Given the description of an element on the screen output the (x, y) to click on. 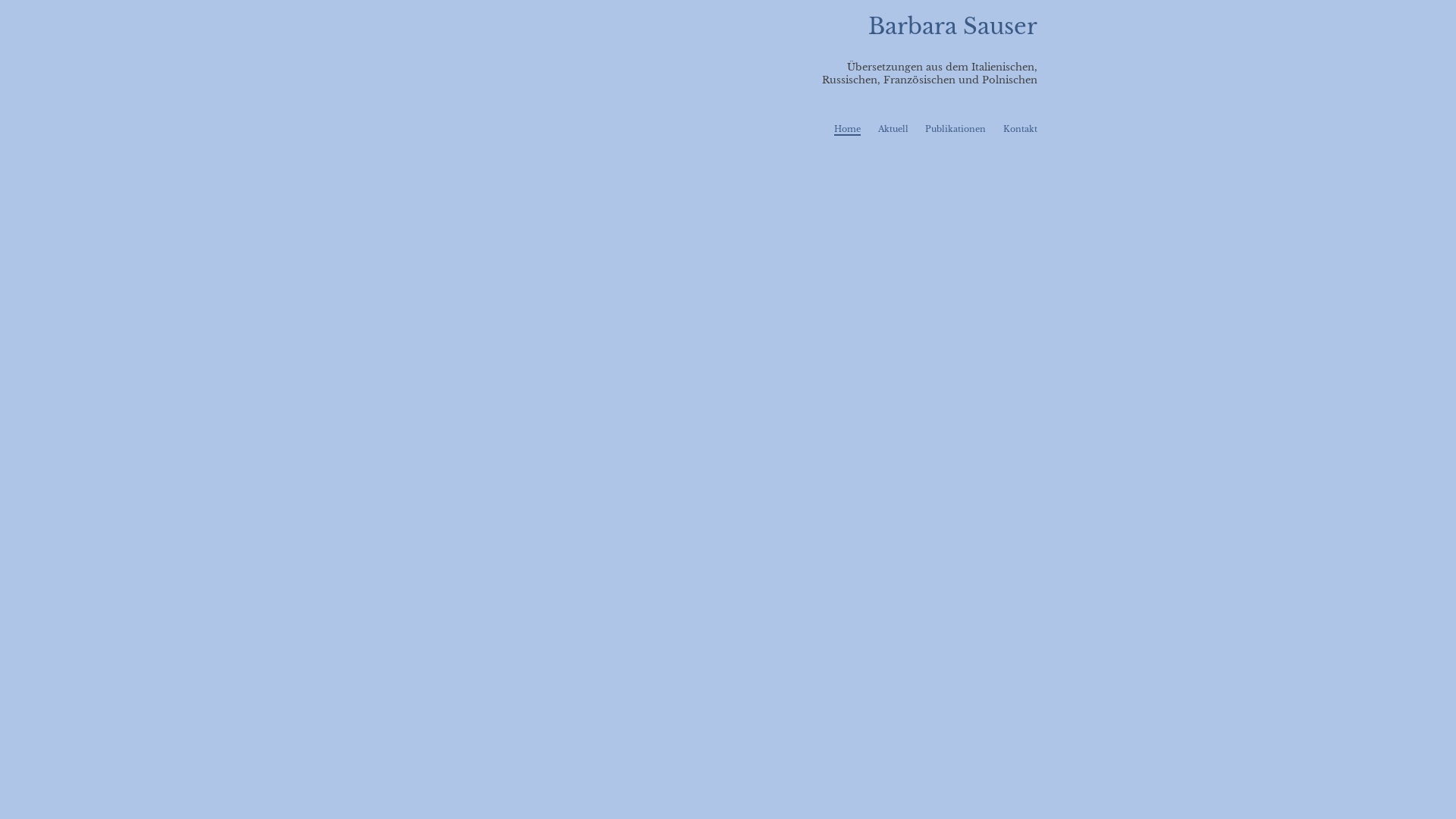
Publikationen Element type: text (955, 128)
Home Element type: text (847, 129)
Kontakt Element type: text (1020, 128)
Barbara Sauser Element type: text (952, 26)
Aktuell Element type: text (893, 128)
